Given the description of an element on the screen output the (x, y) to click on. 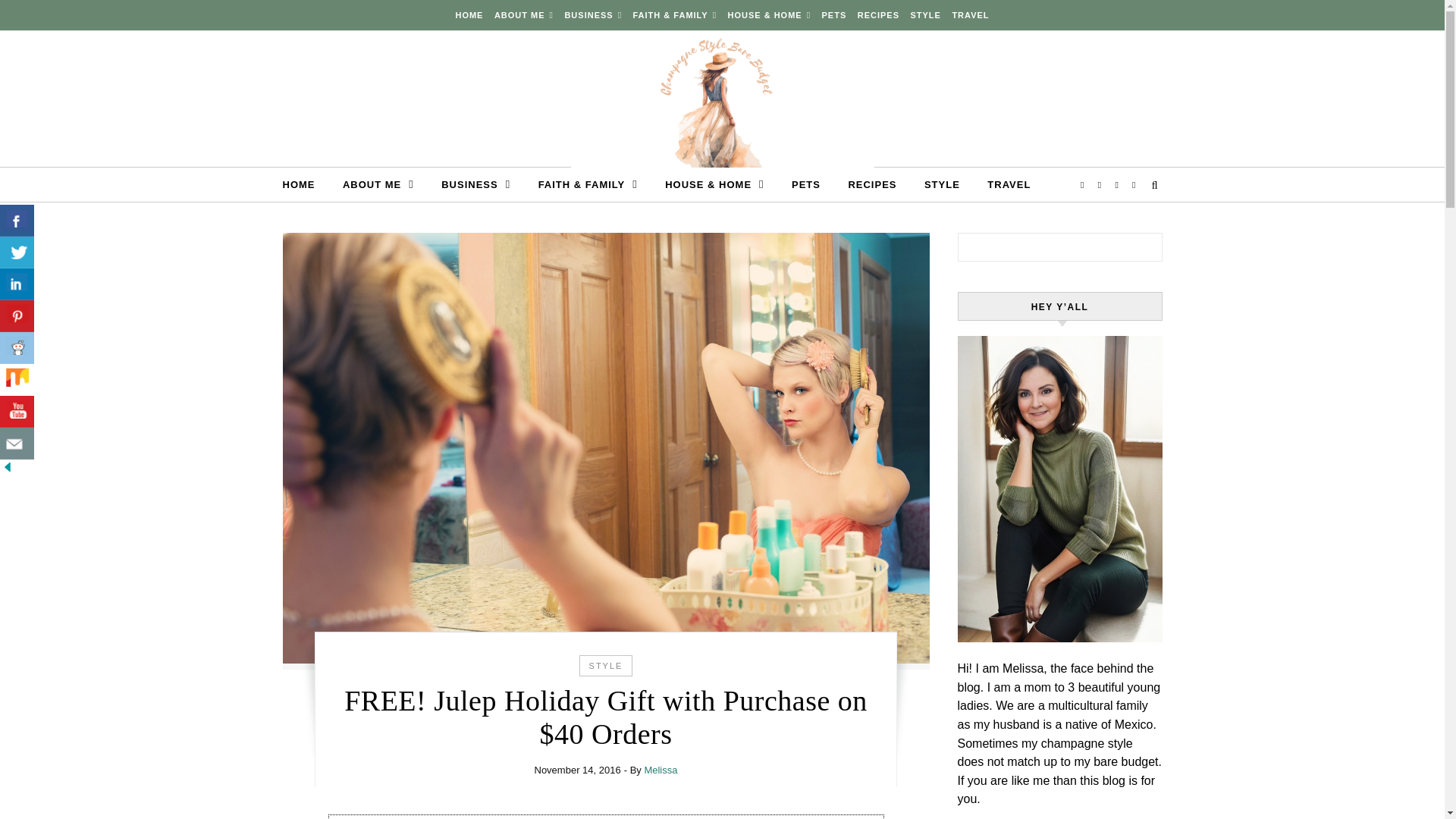
ABOUT ME (378, 184)
BUSINESS (475, 184)
Posts by Melissa (660, 769)
ABOUT ME (523, 15)
STYLE (924, 15)
PETS (834, 15)
HOME (470, 15)
PETS (805, 184)
TRAVEL (1002, 184)
HOME (304, 184)
